Given the description of an element on the screen output the (x, y) to click on. 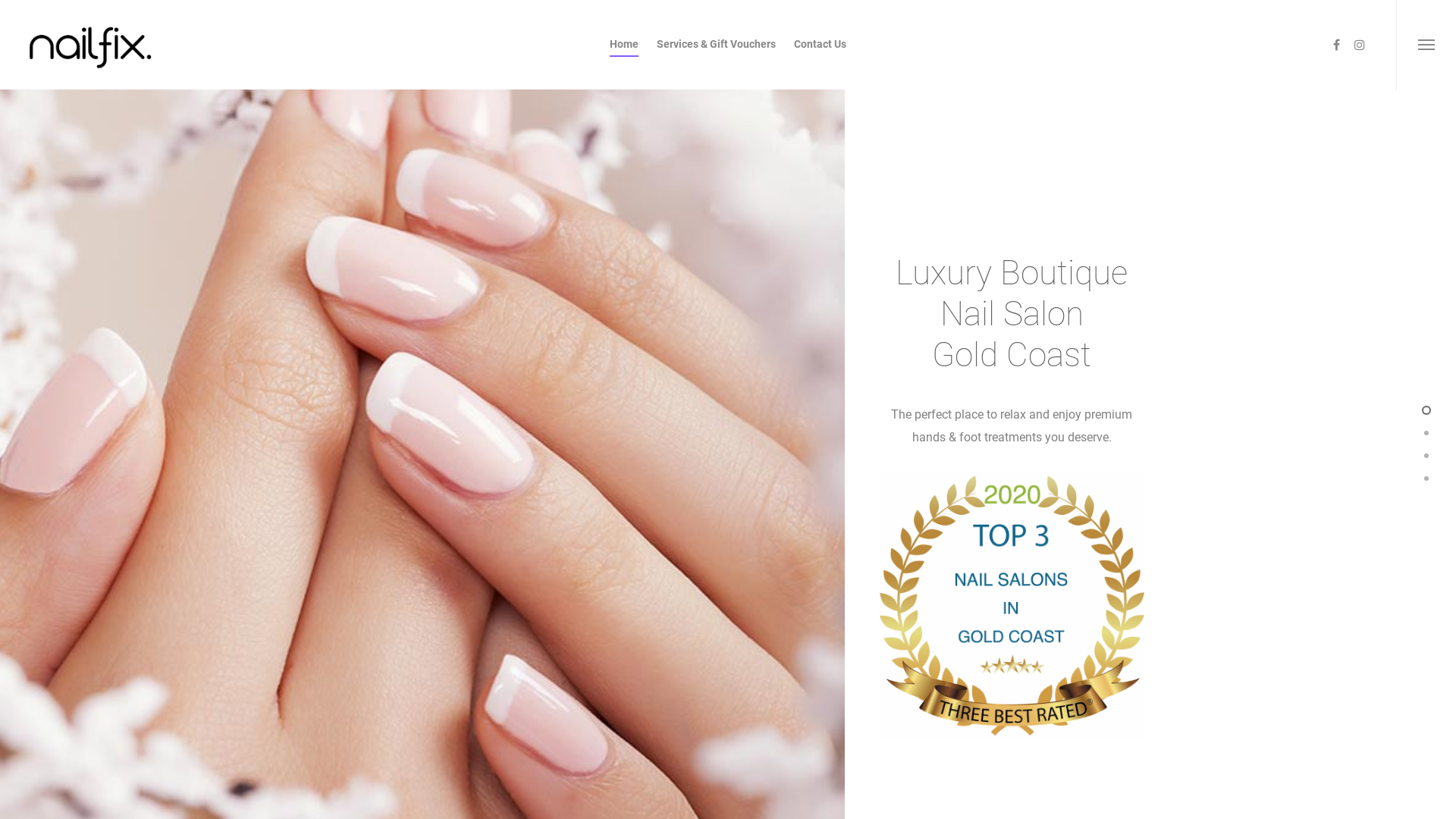
Contact Us Element type: text (819, 55)
Home Element type: text (623, 55)
Services & Gift Vouchers Element type: text (715, 55)
